Given the description of an element on the screen output the (x, y) to click on. 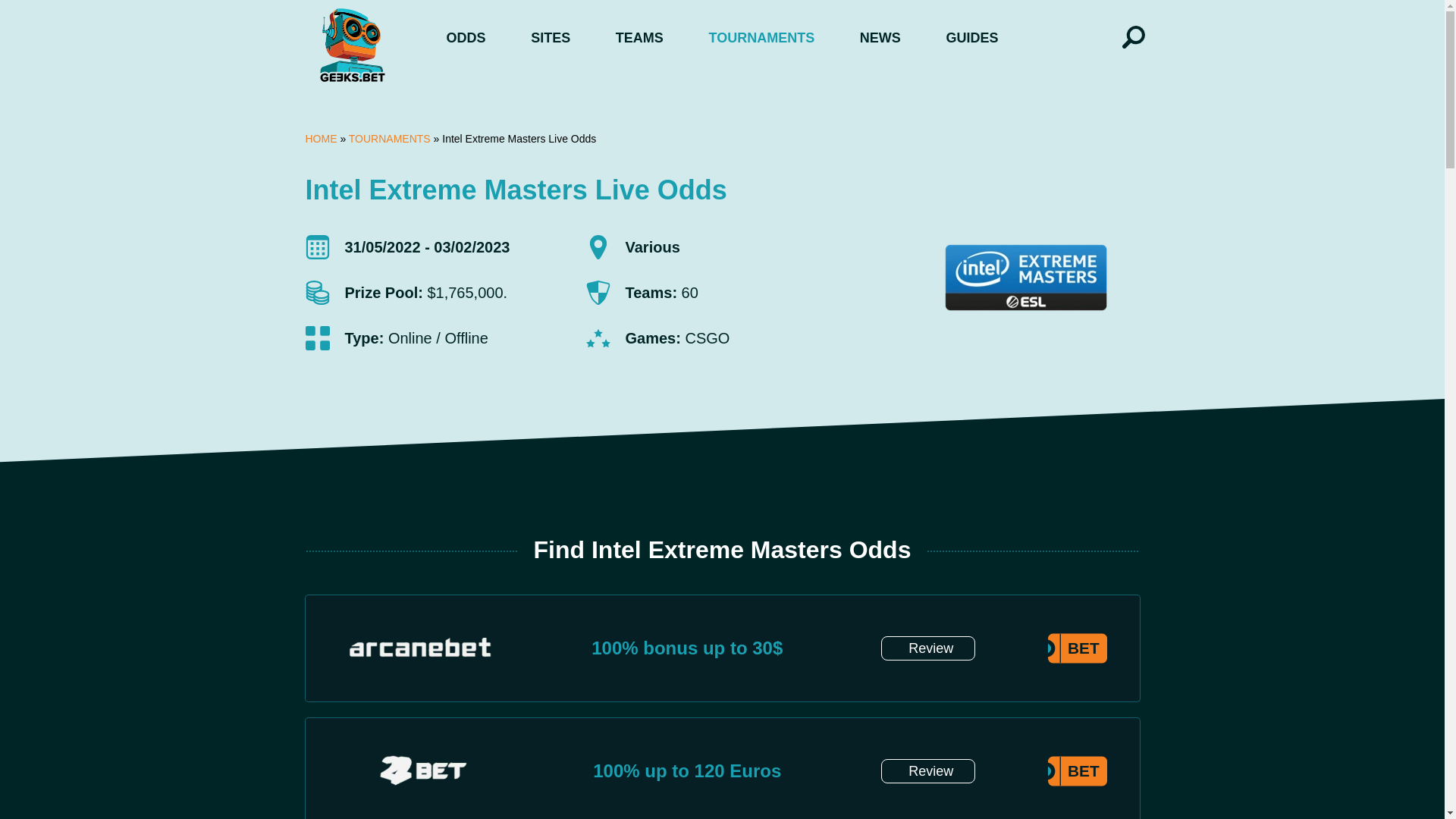
BET (1070, 767)
BET (1070, 644)
TOURNAMENTS (389, 138)
Review (927, 770)
SITES (550, 38)
GUIDES (971, 38)
TEAMS (639, 38)
HOME (320, 138)
TOURNAMENTS (761, 38)
NEWS (879, 38)
